Given the description of an element on the screen output the (x, y) to click on. 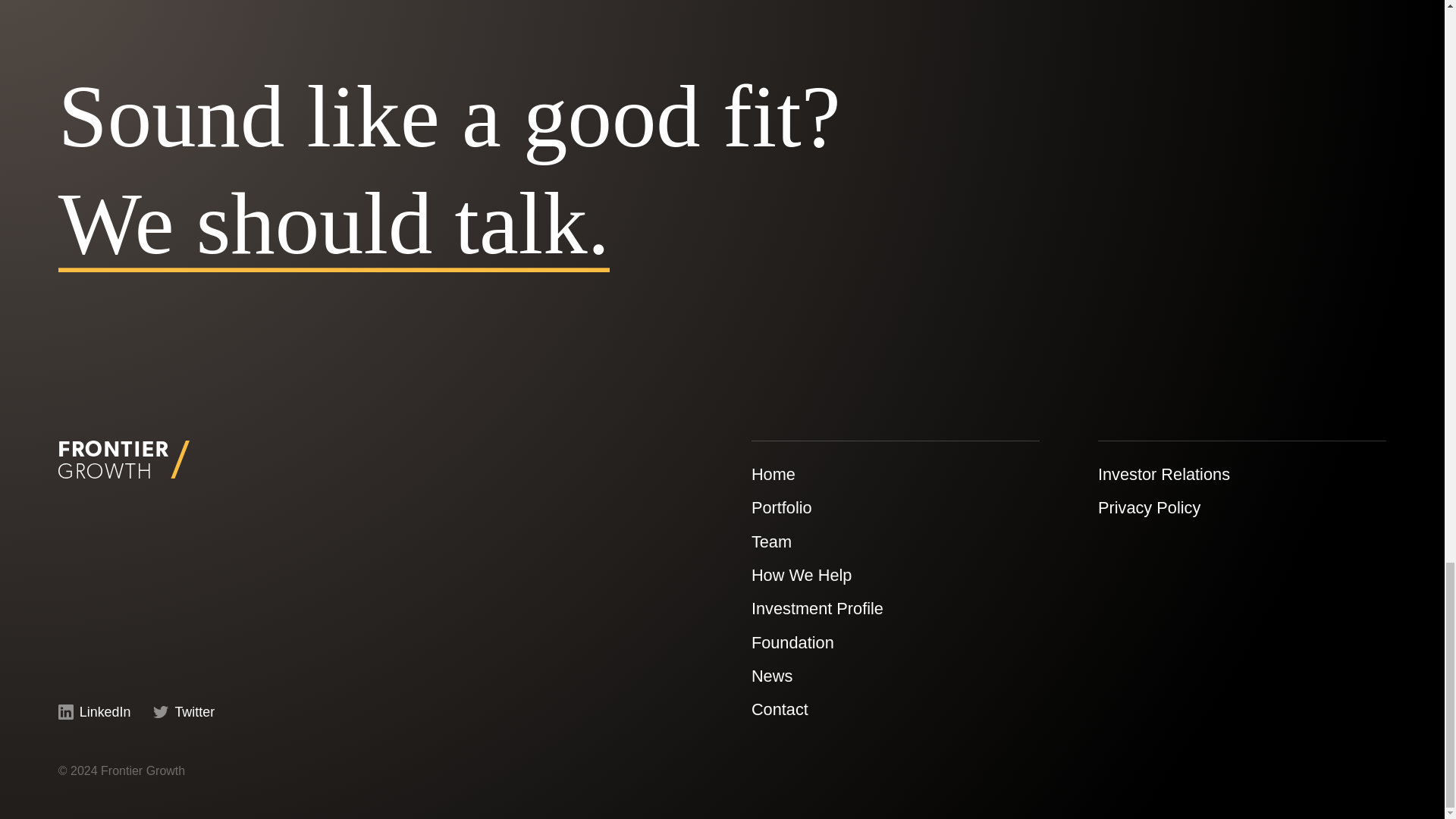
Privacy Policy (1148, 506)
Investment Profile (817, 608)
Portfolio (781, 506)
News (771, 675)
Team (771, 541)
Foundation (792, 642)
We should talk. (334, 222)
Home (772, 474)
Investor Relations (1163, 474)
LinkedIn (94, 712)
